Given the description of an element on the screen output the (x, y) to click on. 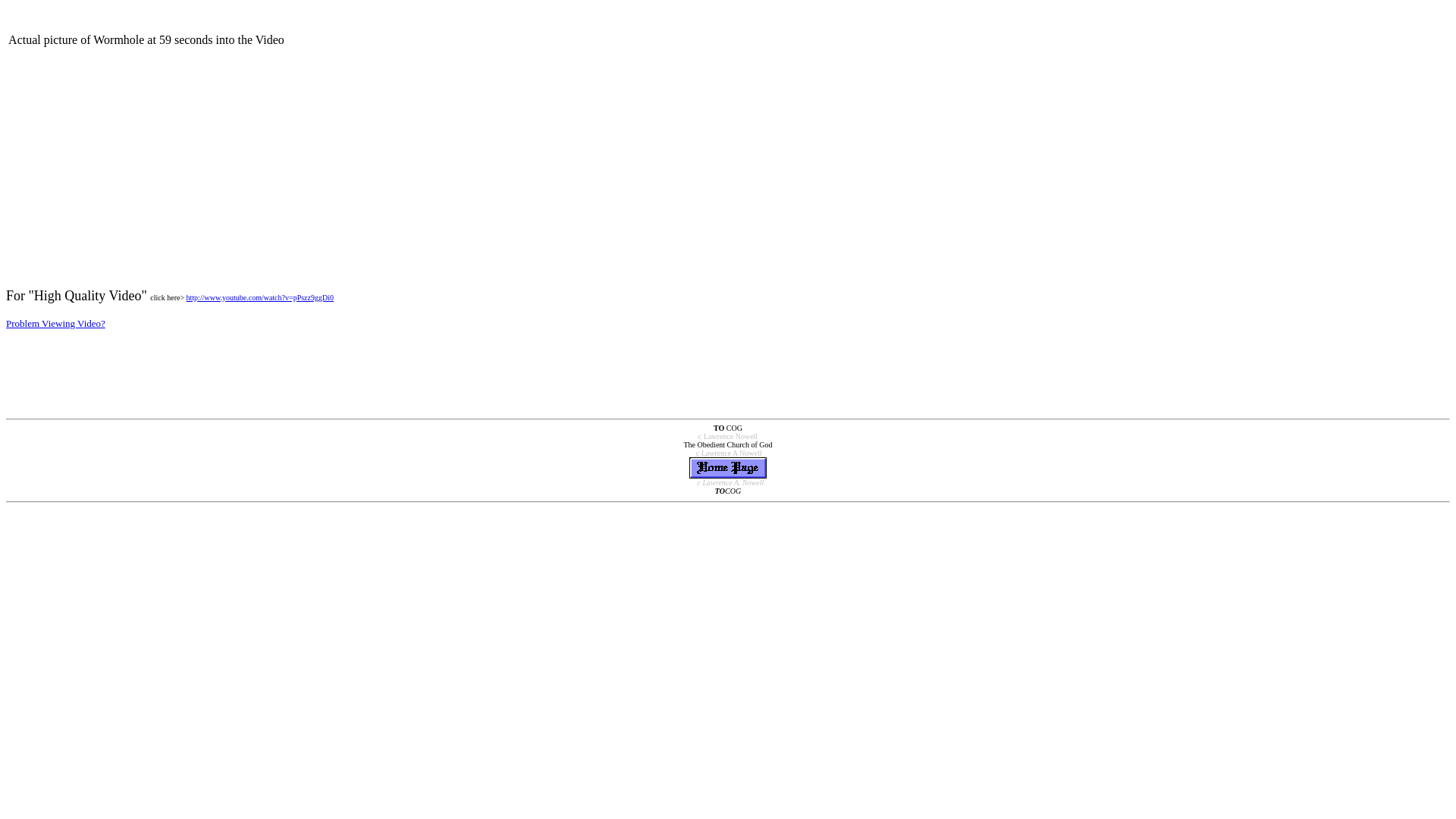
http://www.youtube.com/watch?v=pPszz9ggDi0 Element type: text (259, 295)
Problem Viewing Video? Element type: text (55, 322)
